Given the description of an element on the screen output the (x, y) to click on. 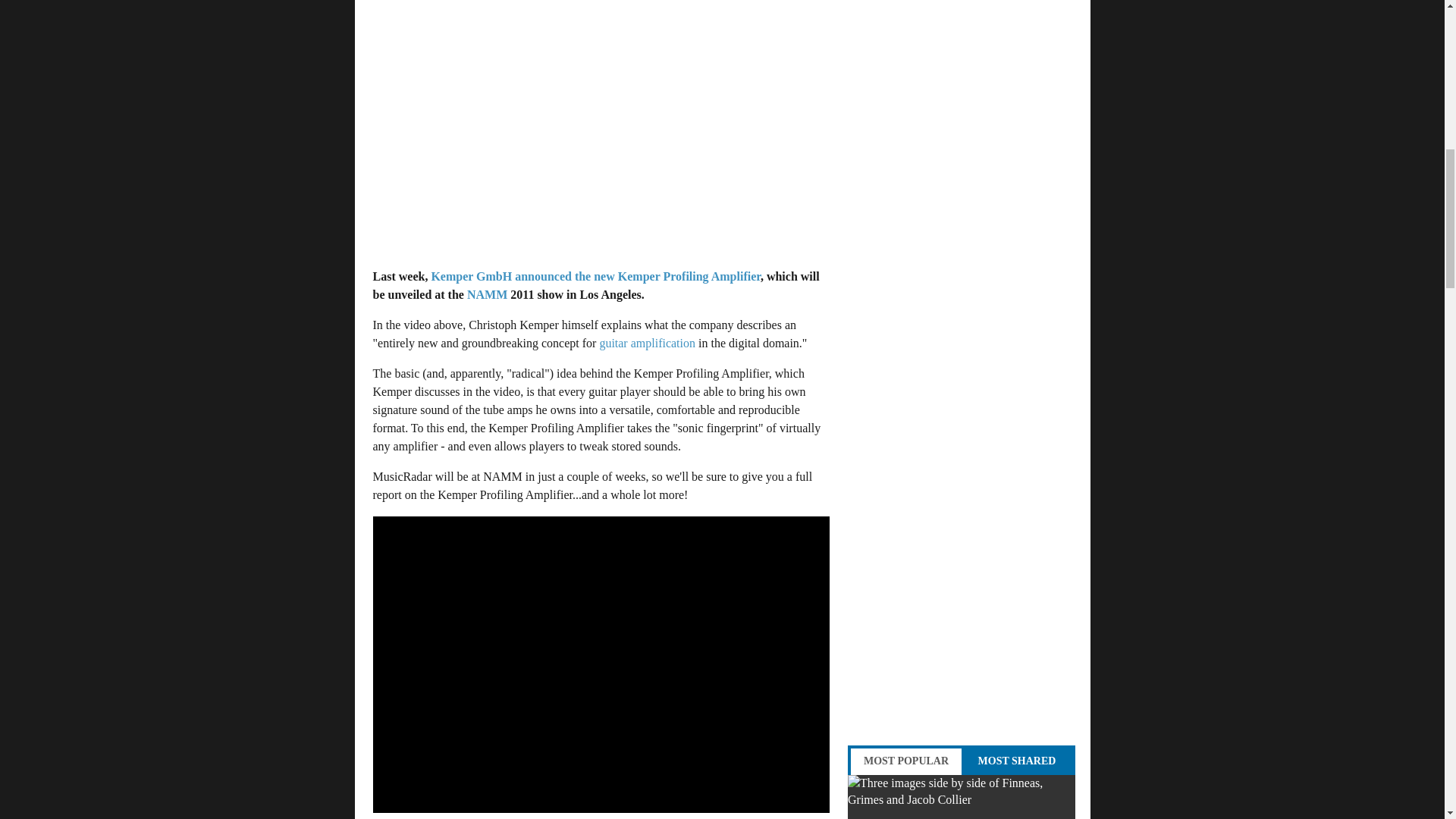
Which audio interfaces do the pros use? (961, 796)
